Given the description of an element on the screen output the (x, y) to click on. 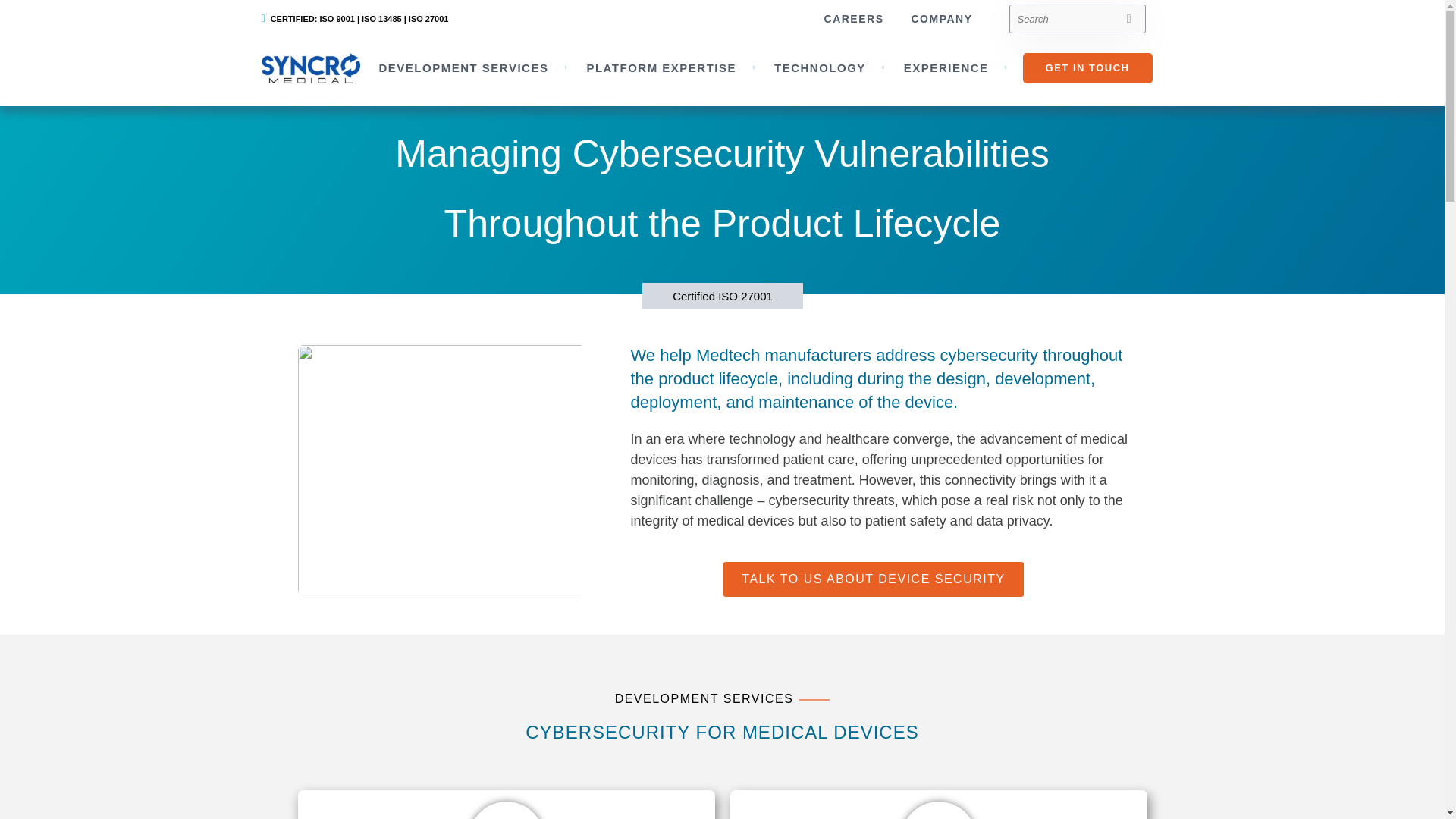
CAREERS (854, 18)
DEVELOPMENT SERVICES (463, 68)
COMPANY (940, 18)
